Given the description of an element on the screen output the (x, y) to click on. 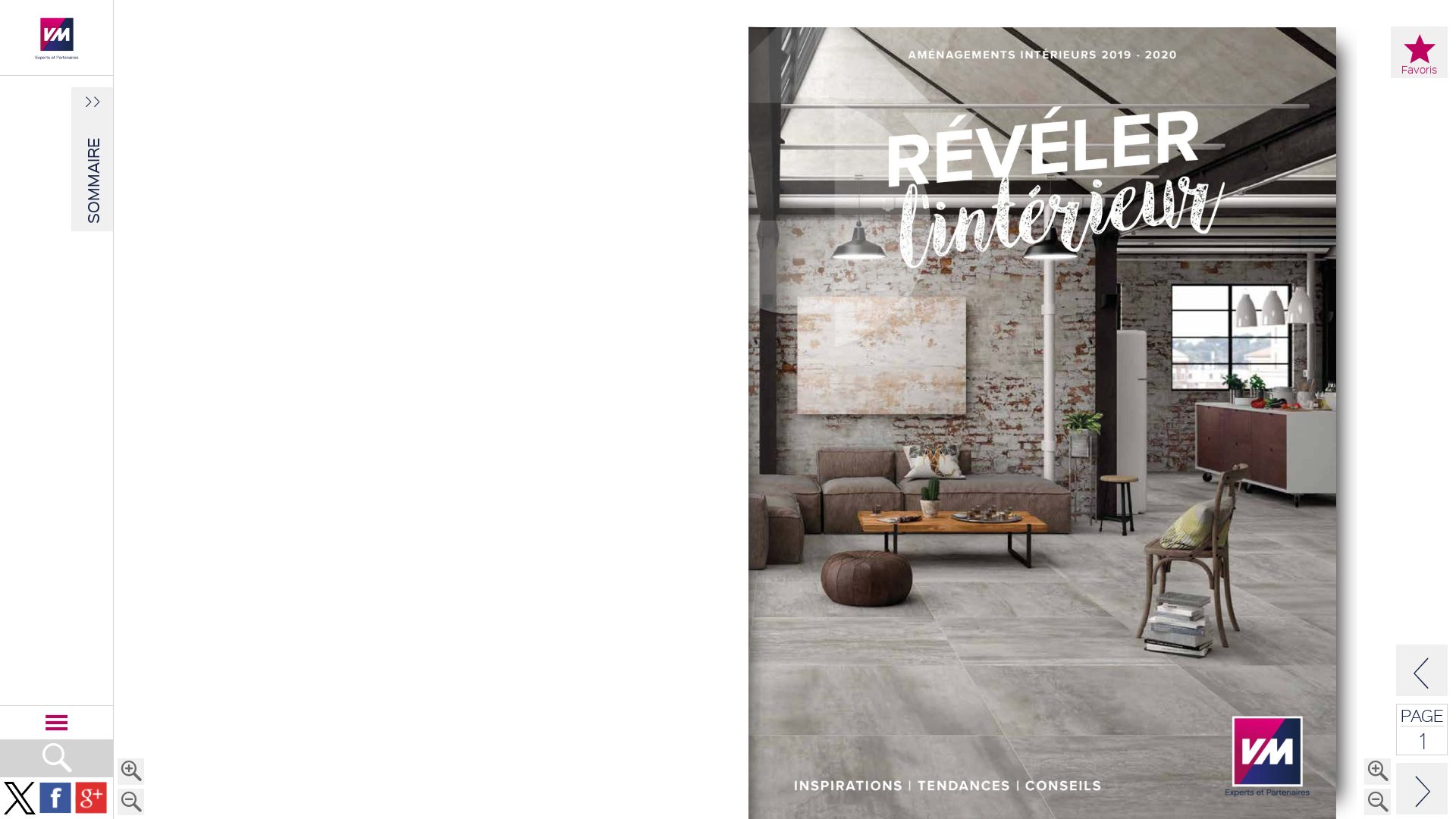
Partager sur Twitter Element type: hover (19, 797)
Partager sur Google + Element type: hover (90, 797)
1 Element type: text (1422, 739)
Partager sur facebook Element type: hover (55, 797)
